Given the description of an element on the screen output the (x, y) to click on. 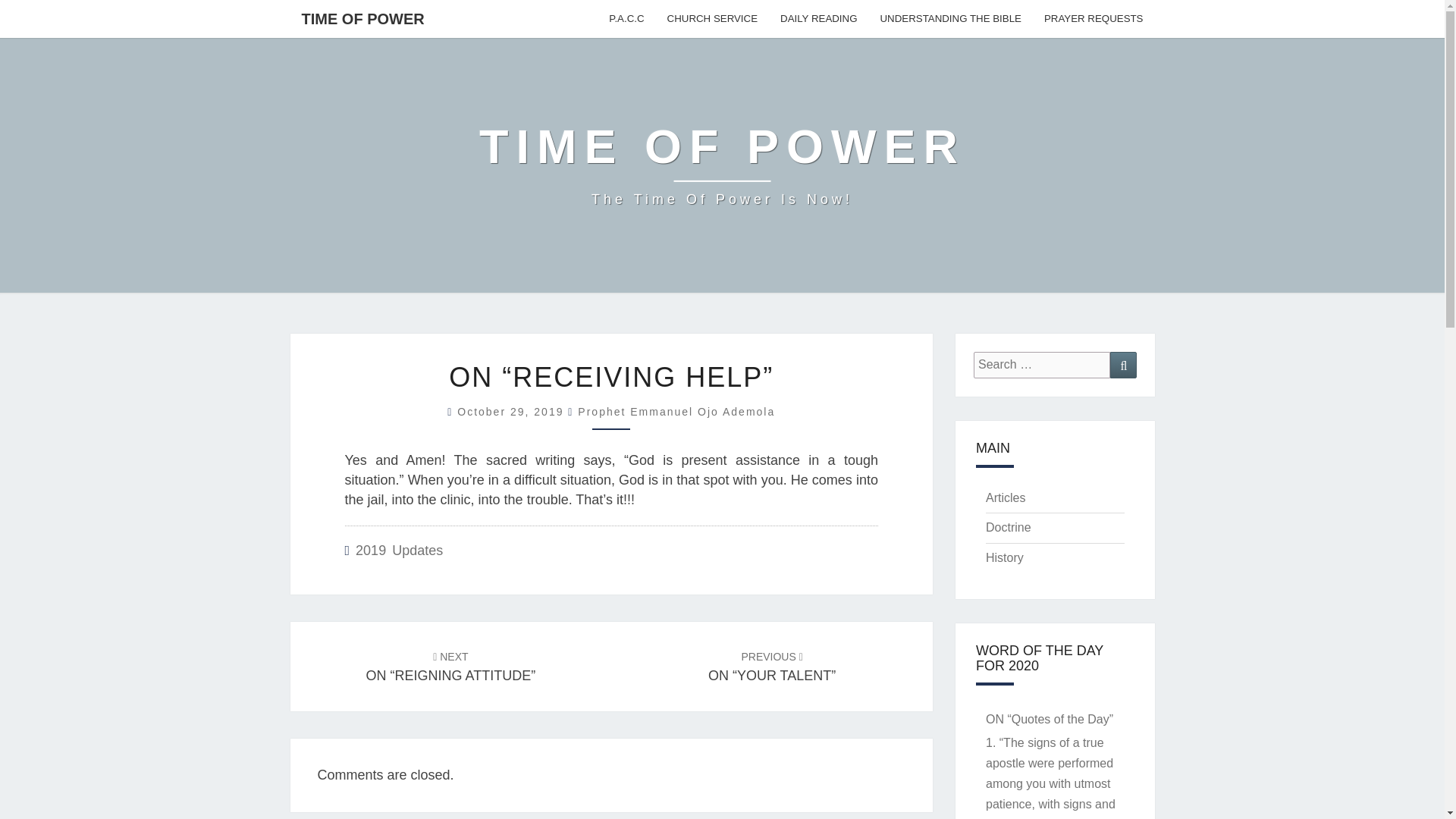
Articles (1005, 497)
P.A.C.C (625, 18)
3:43 am (512, 411)
2019 Updates (398, 549)
UNDERSTANDING THE BIBLE (950, 18)
History (1004, 557)
TIME OF POWER (722, 164)
View all posts by Prophet Emmanuel Ojo Ademola (676, 411)
Search (1123, 365)
Prophet Emmanuel Ojo Ademola (676, 411)
PRAYER REQUESTS (1093, 18)
October 29, 2019 (512, 411)
Doctrine (1007, 526)
TIME OF POWER (362, 18)
Search for: (1041, 365)
